Given the description of an element on the screen output the (x, y) to click on. 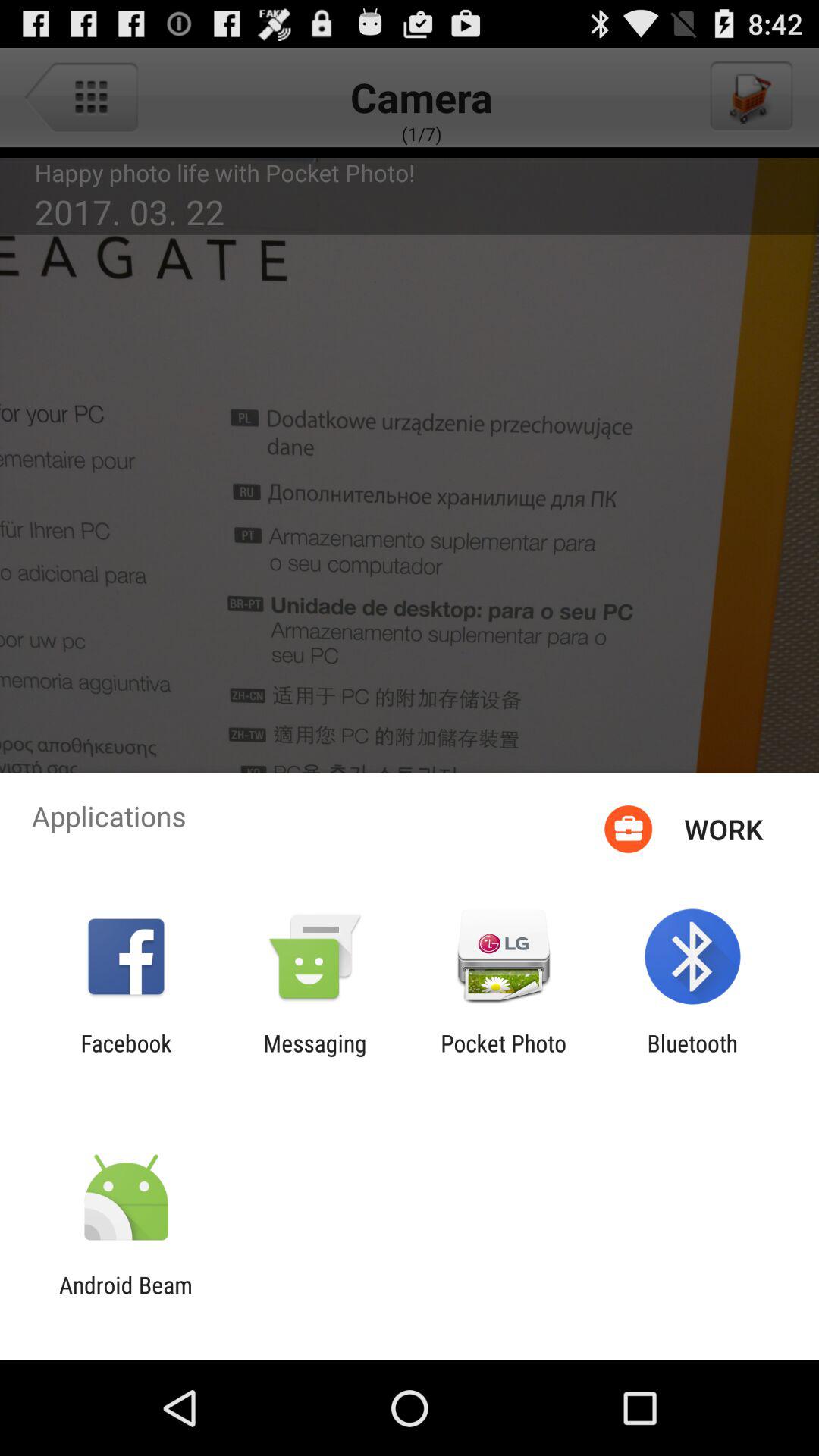
choose the icon next to pocket photo item (314, 1056)
